Given the description of an element on the screen output the (x, y) to click on. 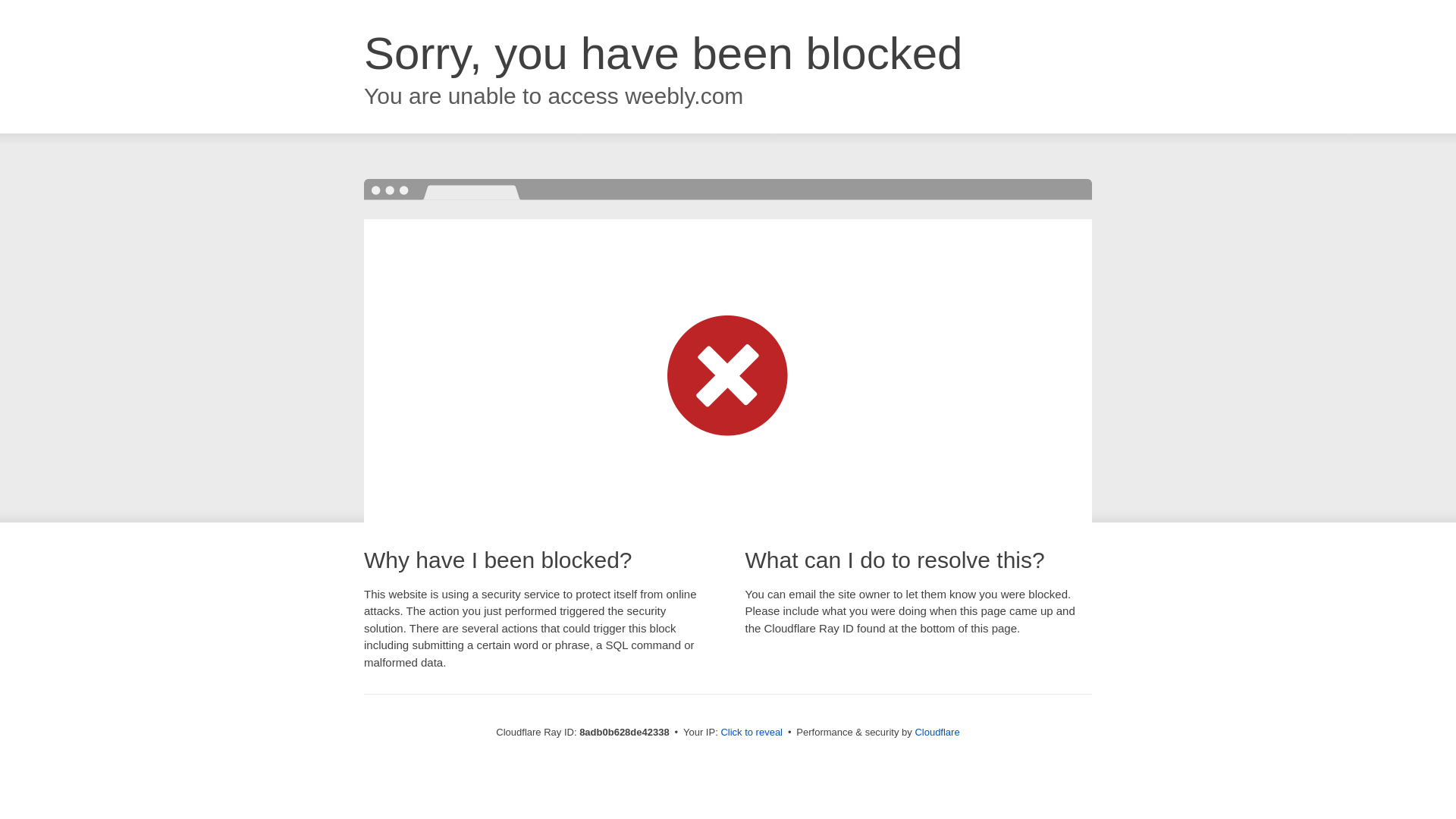
Cloudflare (936, 731)
Click to reveal (751, 732)
